Given the description of an element on the screen output the (x, y) to click on. 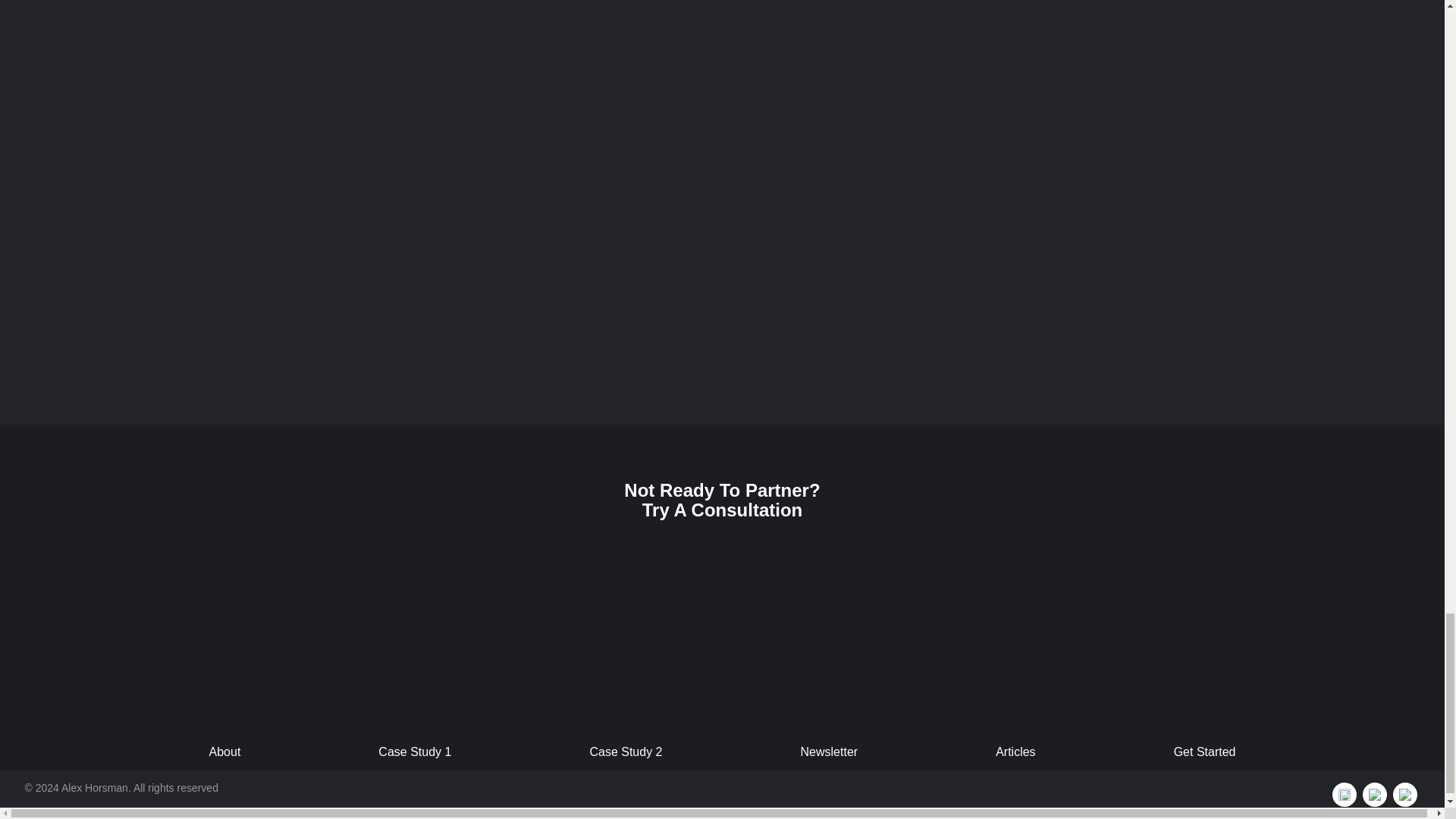
Case Study 2 (625, 751)
Get Started (1204, 751)
About (224, 751)
Newsletter (829, 751)
Case Study 1 (413, 751)
Articles (1014, 751)
